Given the description of an element on the screen output the (x, y) to click on. 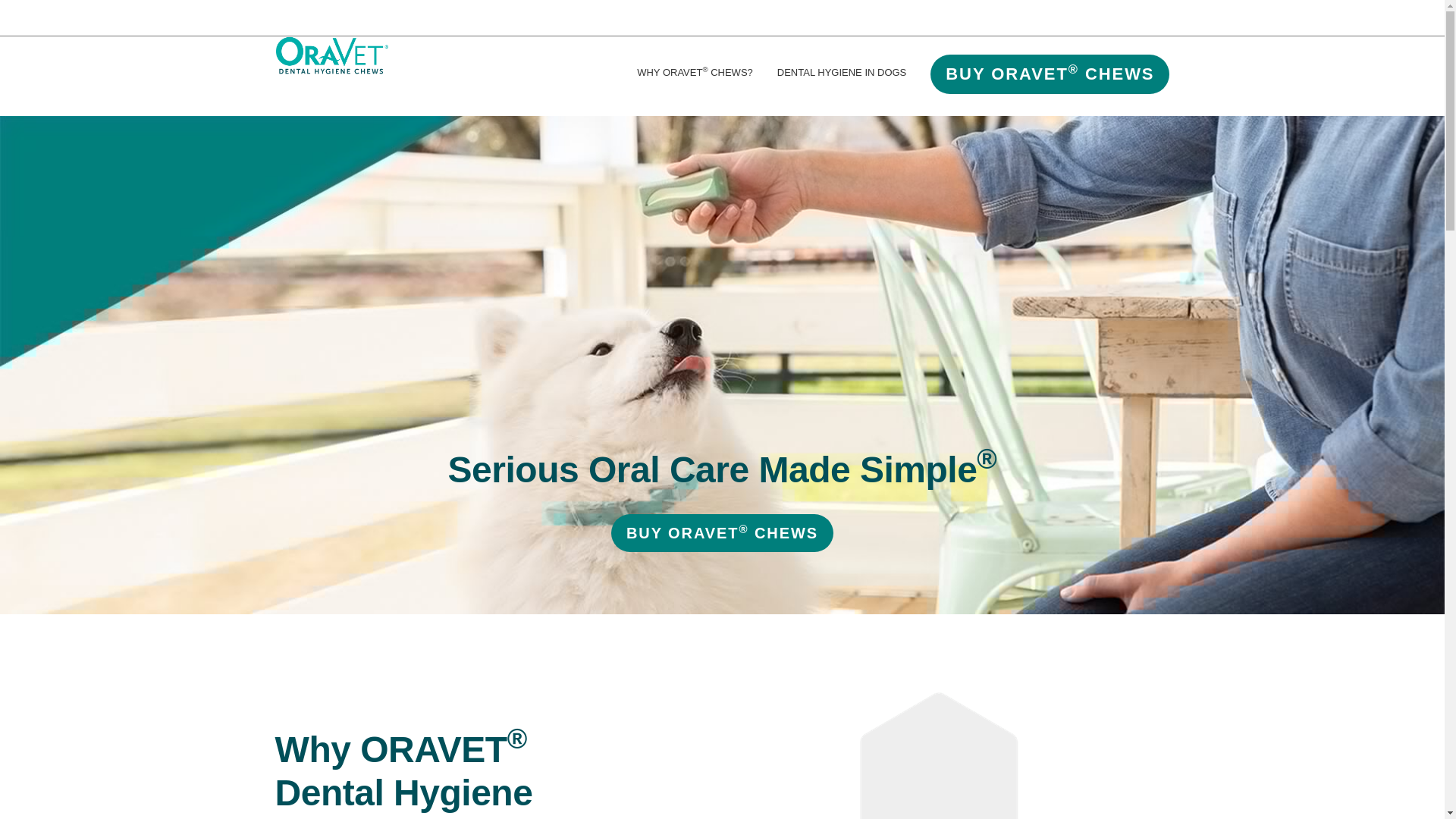
DENTAL HYGIENE IN DOGS (853, 72)
